Given the description of an element on the screen output the (x, y) to click on. 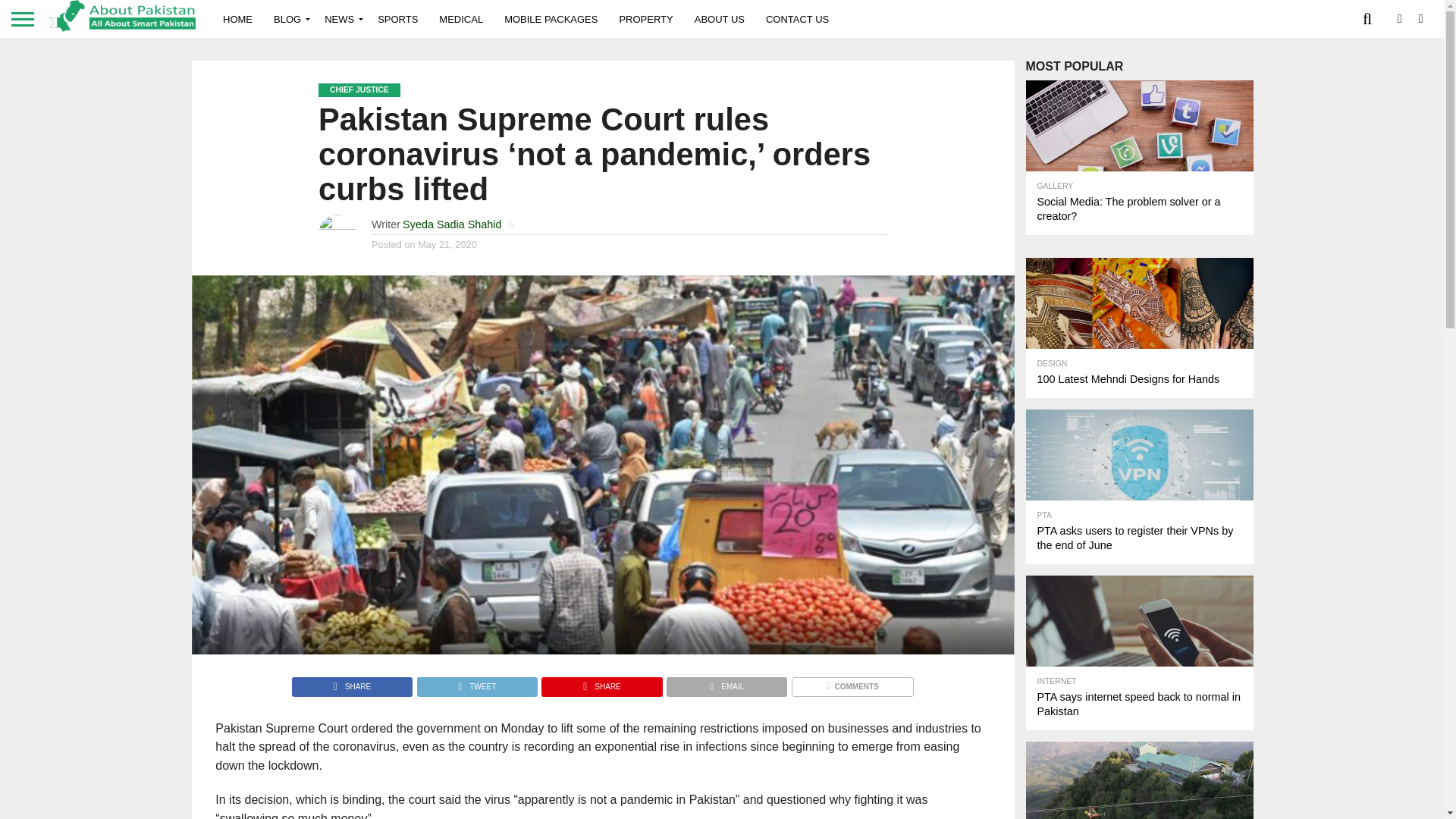
Share on Facebook (352, 682)
Posts by Syeda Sadia Shahid (451, 224)
BLOG (288, 18)
HOME (237, 18)
Pin This Post (601, 682)
Tweet This Post (476, 682)
